Given the description of an element on the screen output the (x, y) to click on. 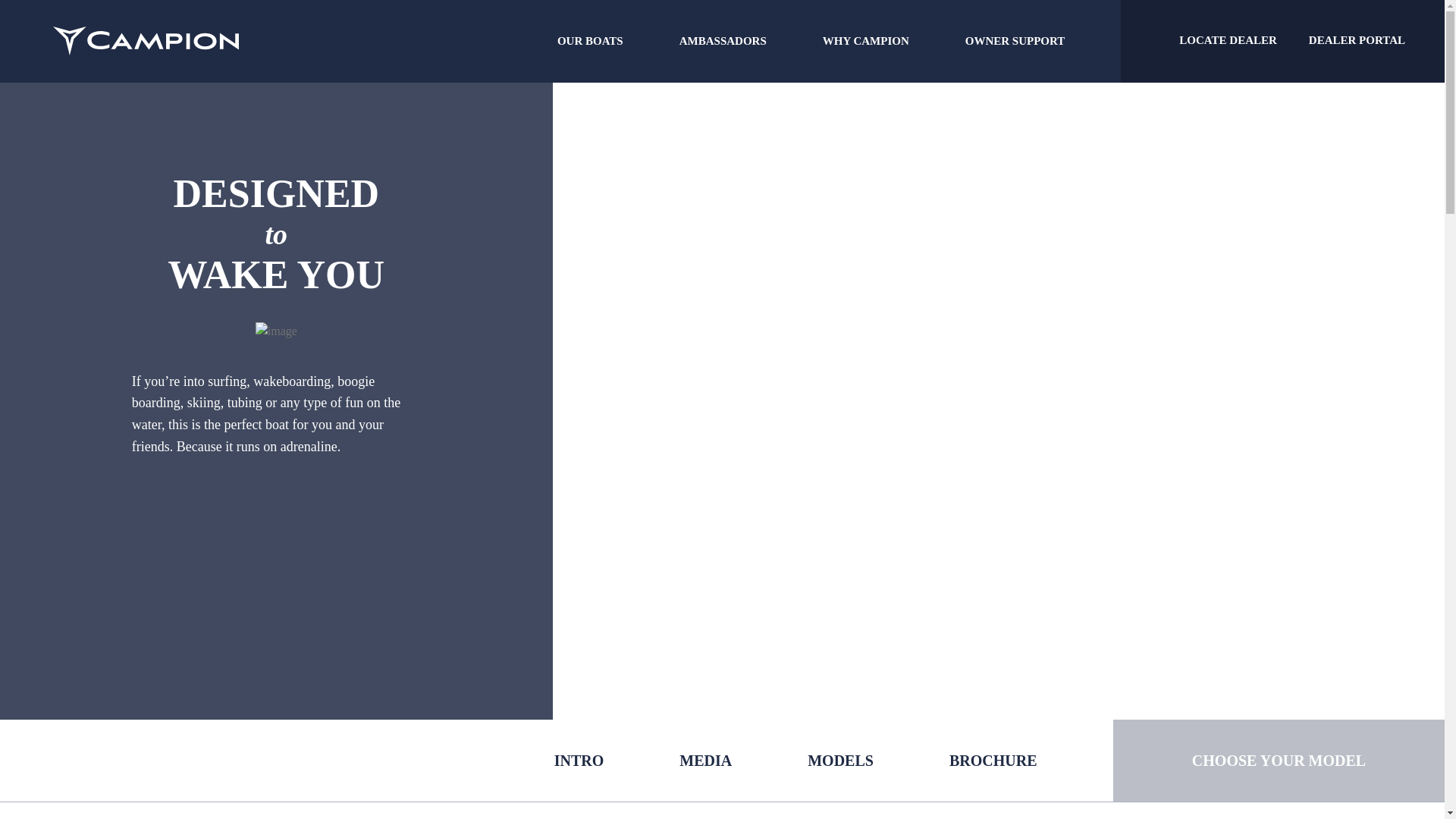
Owner Support (1015, 40)
BROCHURE (993, 760)
OWNER SUPPORT (1015, 40)
Campion (145, 40)
DEALER PORTAL (1356, 40)
MEDIA (706, 760)
CHOOSE YOUR MODEL (1278, 759)
AMBASSADORS (723, 40)
OUR BOATS (590, 40)
INTRO (579, 760)
MODELS (840, 760)
CHOOSE YOUR MODEL (1278, 759)
WHY CAMPION (865, 40)
Ambassadors (723, 40)
MODELS (840, 760)
